Given the description of an element on the screen output the (x, y) to click on. 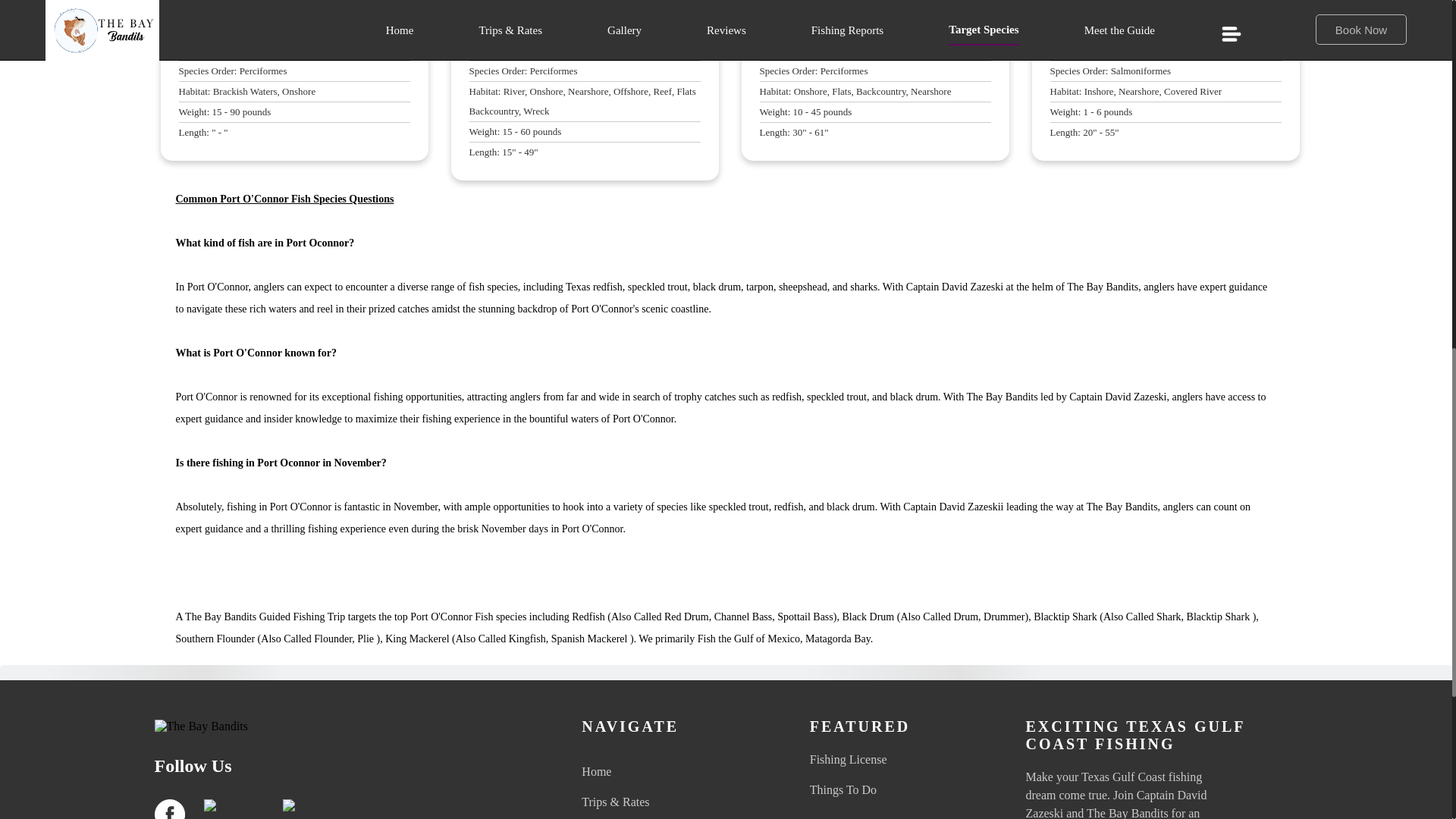
Fishing License (903, 760)
Home (903, 785)
Things To Do (675, 771)
